Given the description of an element on the screen output the (x, y) to click on. 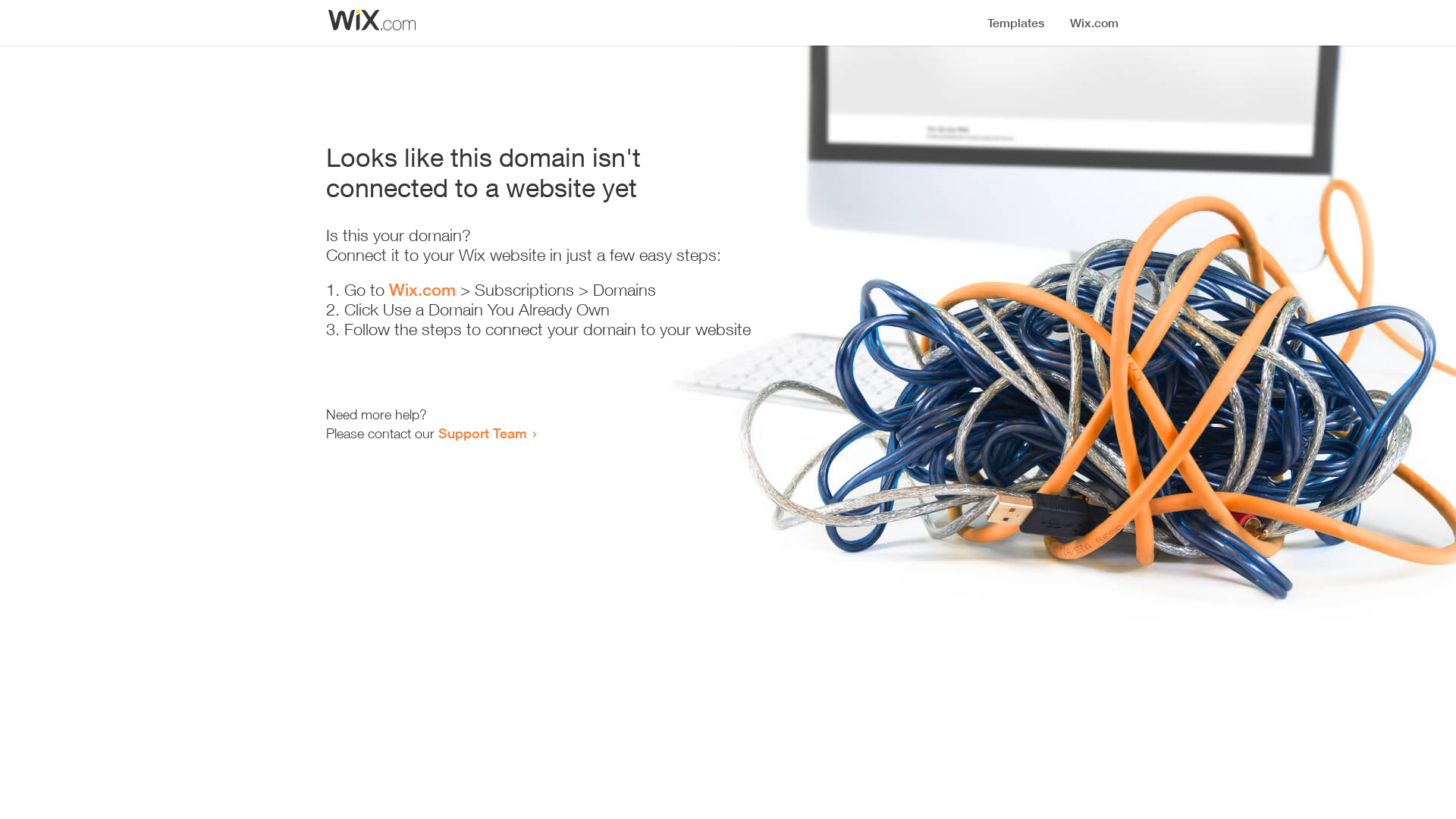
Wix.com Element type: text (422, 289)
Support Team Element type: text (482, 432)
